Given the description of an element on the screen output the (x, y) to click on. 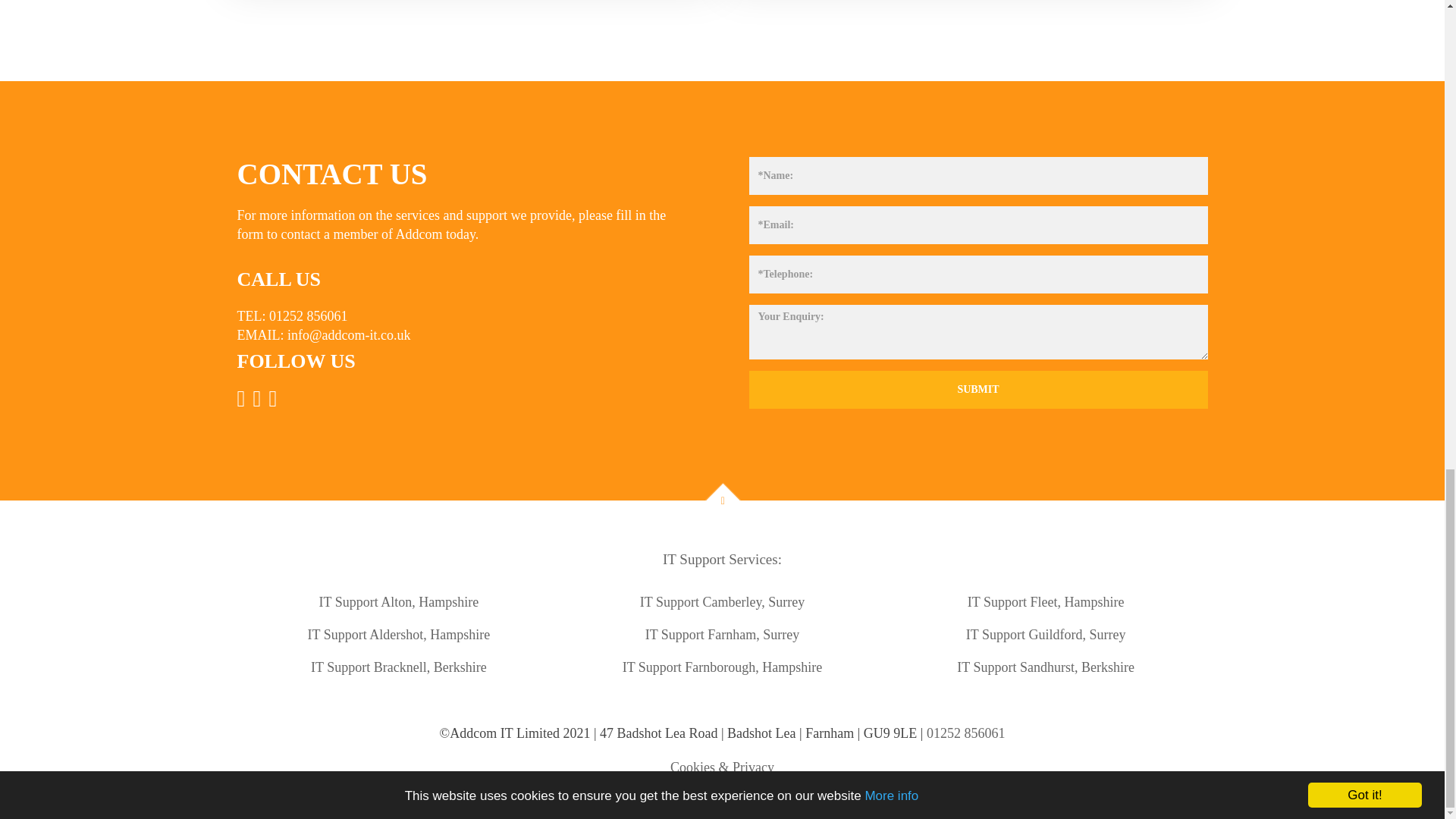
IT Support Services Bracknell, Berkshire (398, 667)
Submit (978, 389)
IT Support Services Aldershot, Hampshire (398, 634)
IT Support Services Alton, Hampshire (398, 601)
